Given the description of an element on the screen output the (x, y) to click on. 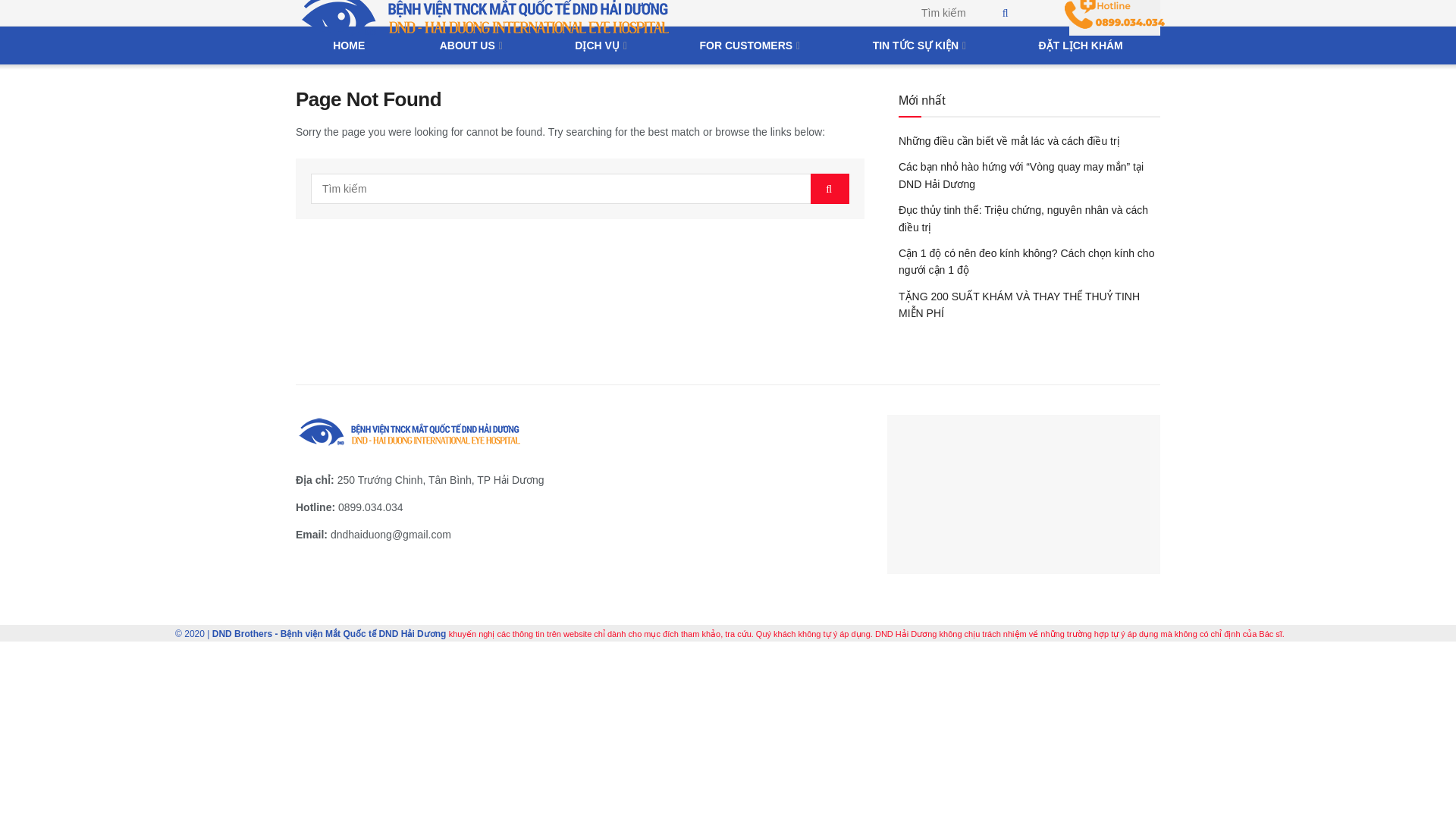
ABOUT US (469, 45)
HOME (348, 45)
FOR CUSTOMERS (748, 45)
Premium DND; magazine theme (242, 633)
